Given the description of an element on the screen output the (x, y) to click on. 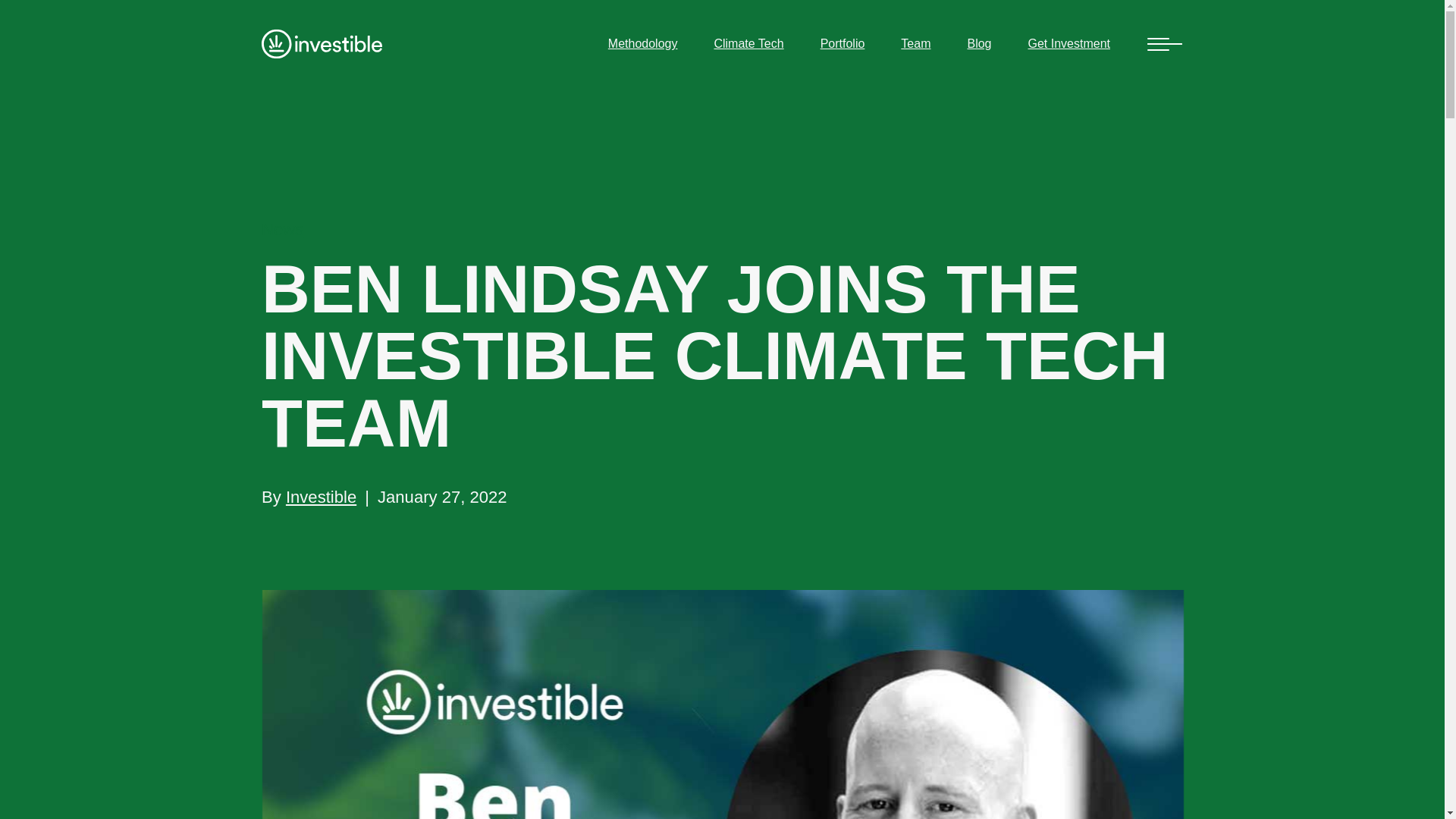
Climate Tech (748, 44)
Blog (978, 44)
Get Investment (1068, 44)
Investible (320, 497)
News (282, 229)
Team (915, 44)
Methodology (643, 44)
Portfolio (842, 44)
